Given the description of an element on the screen output the (x, y) to click on. 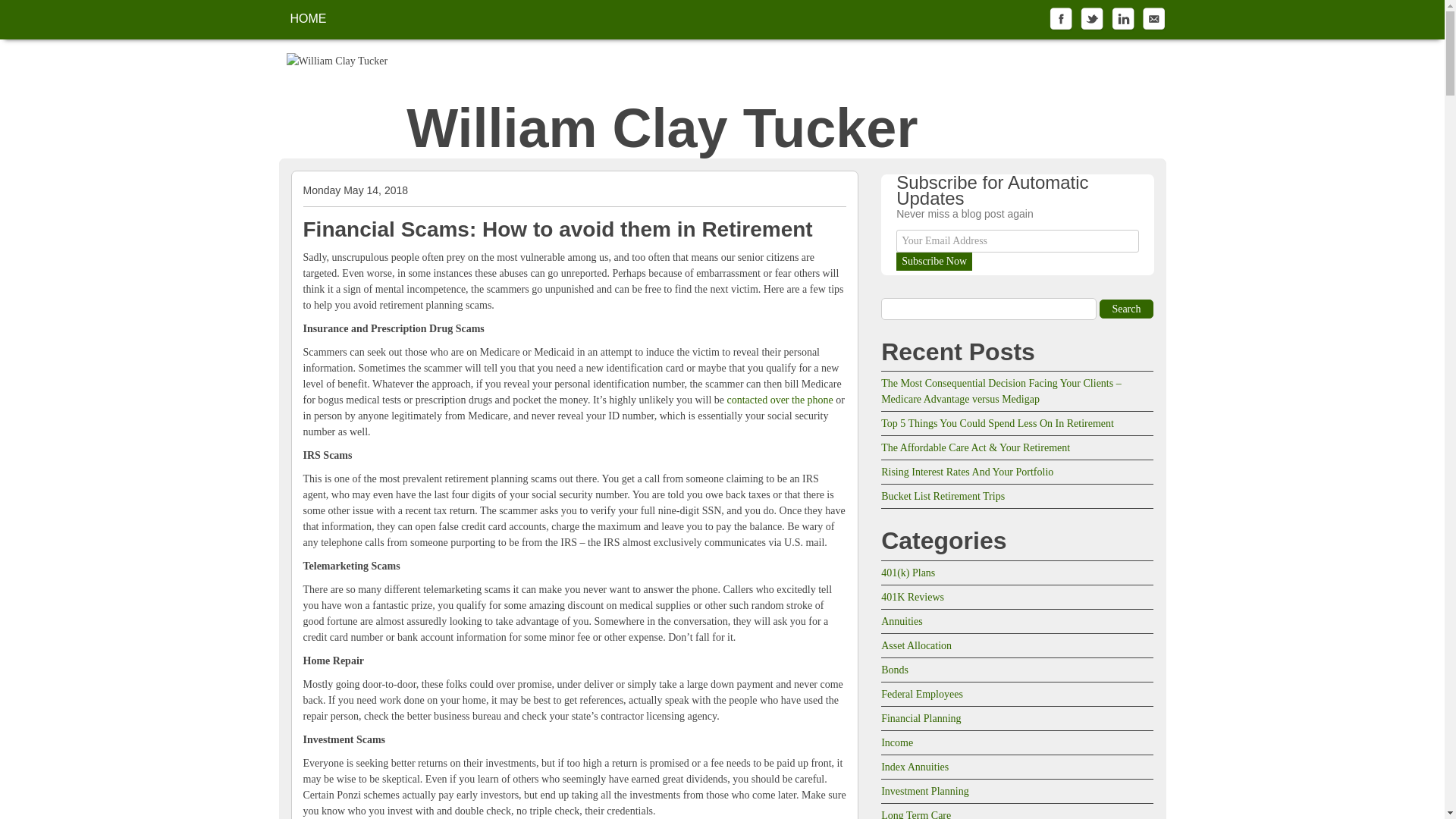
Subscribe Now (934, 261)
Financial Scams: How to avoid them in Retirement (557, 228)
Search (1126, 308)
contacted over the phone (779, 399)
HOME (308, 18)
